Given the description of an element on the screen output the (x, y) to click on. 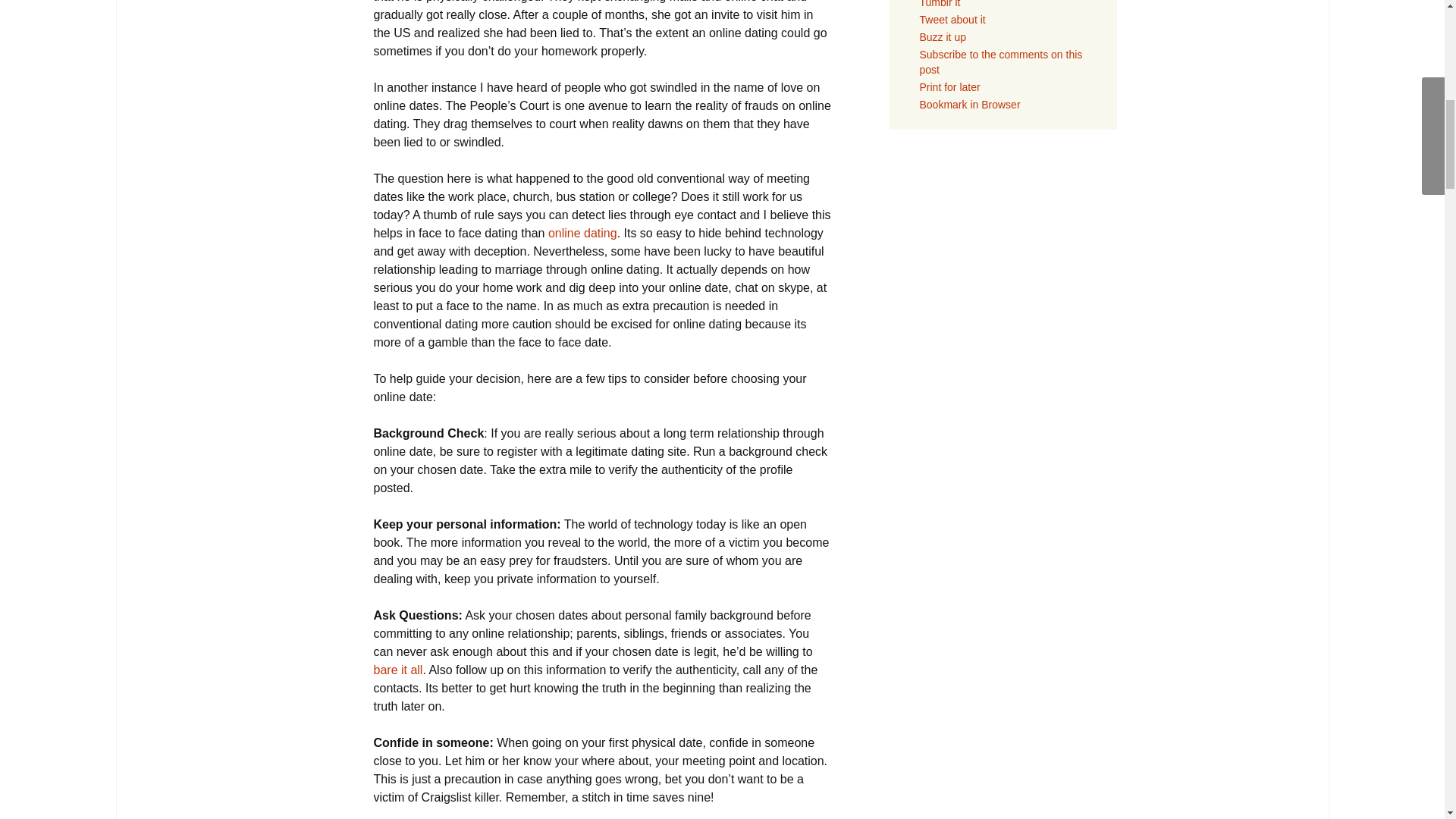
online dating (582, 232)
bare it all (397, 669)
